Given the description of an element on the screen output the (x, y) to click on. 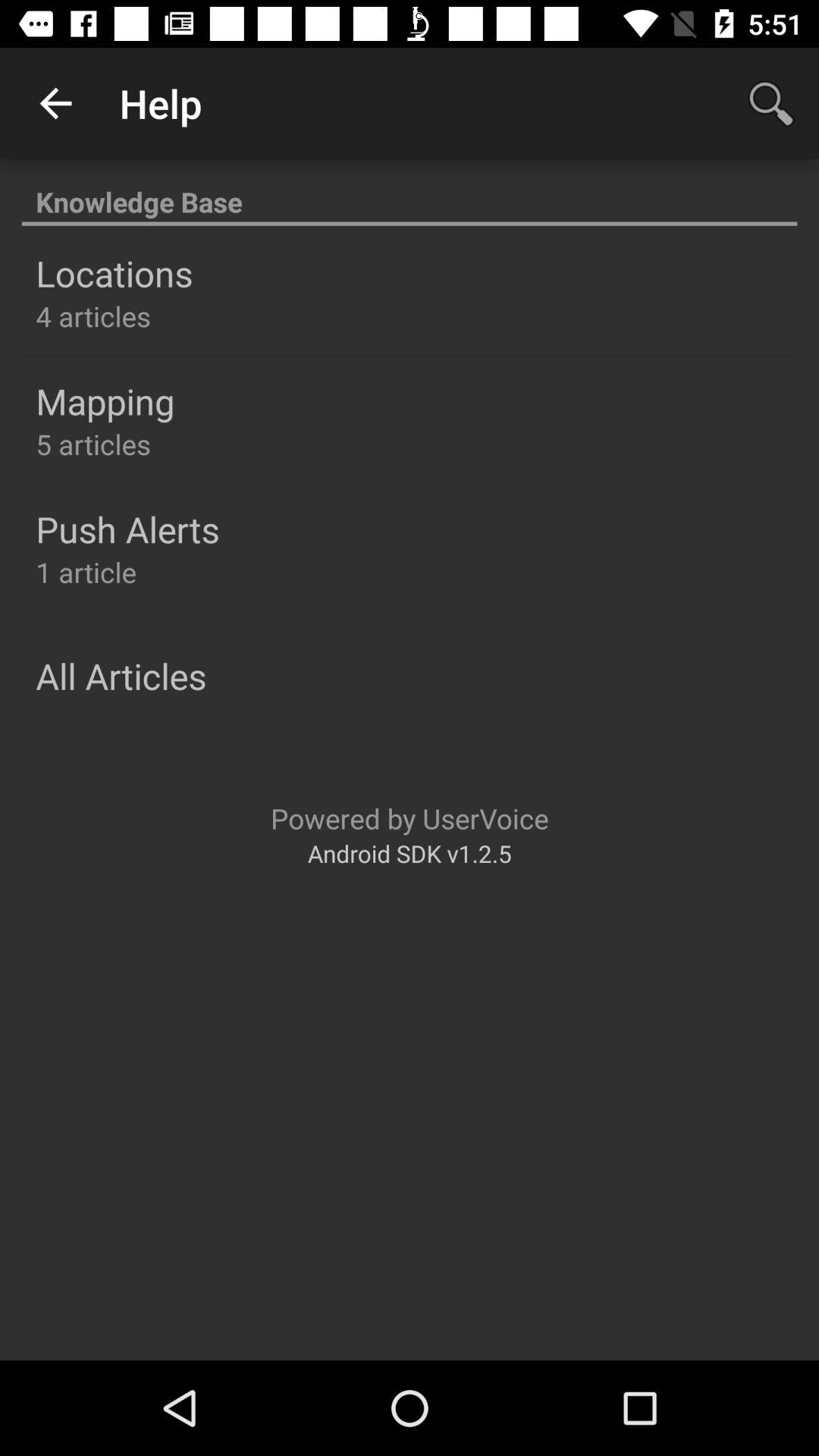
press the 1 article icon (85, 571)
